Given the description of an element on the screen output the (x, y) to click on. 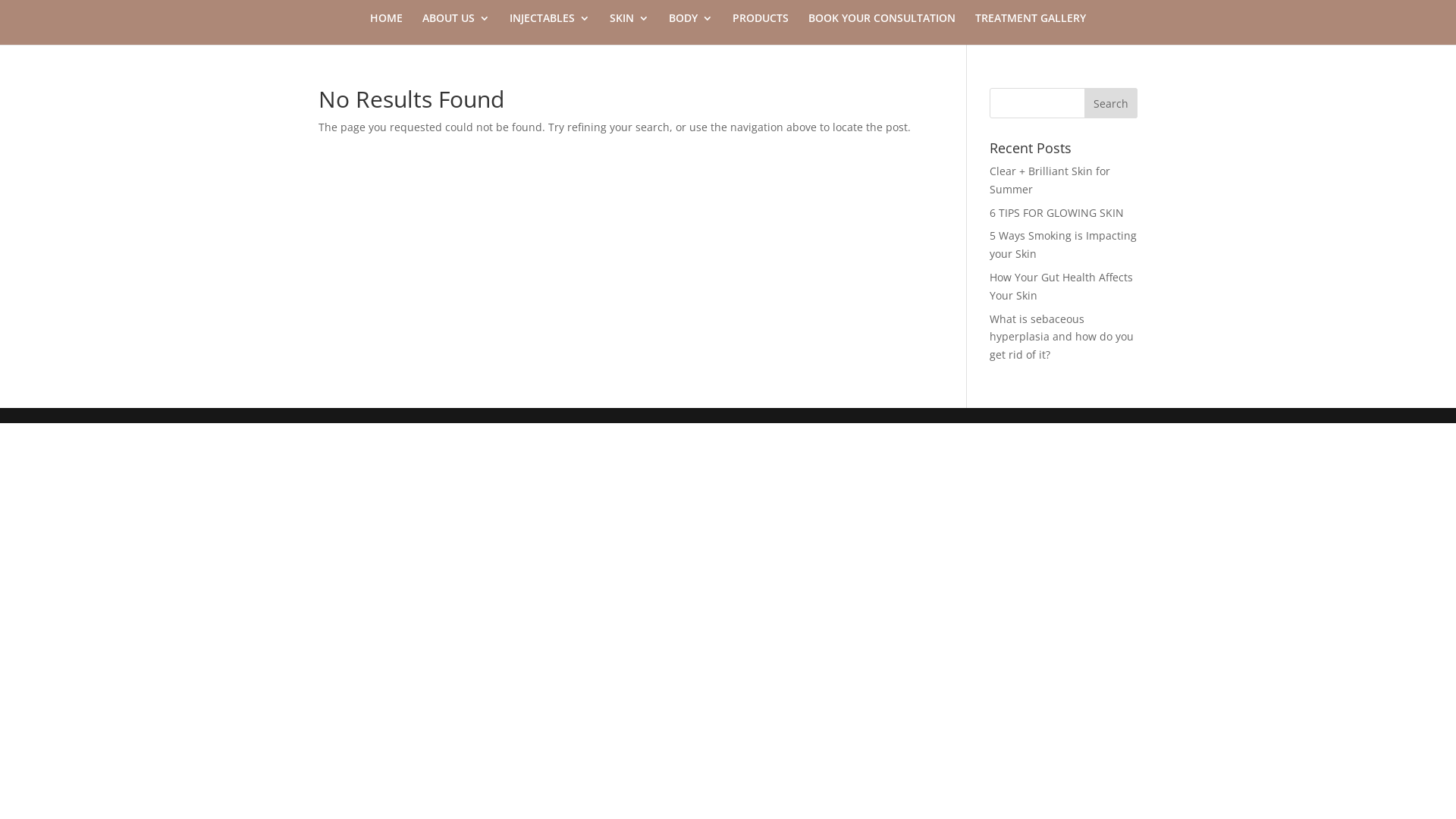
INJECTABLES Element type: text (549, 28)
BODY Element type: text (690, 28)
Clear + Brilliant Skin for Summer Element type: text (1049, 179)
PRODUCTS Element type: text (760, 28)
How Your Gut Health Affects Your Skin Element type: text (1060, 285)
SKIN Element type: text (629, 28)
6 TIPS FOR GLOWING SKIN Element type: text (1056, 212)
TREATMENT GALLERY Element type: text (1030, 28)
ABOUT US Element type: text (455, 28)
Search Element type: text (1110, 102)
5 Ways Smoking is Impacting your Skin Element type: text (1062, 244)
HOME Element type: text (386, 28)
BOOK YOUR CONSULTATION Element type: text (881, 28)
What is sebaceous hyperplasia and how do you get rid of it? Element type: text (1061, 336)
